Given the description of an element on the screen output the (x, y) to click on. 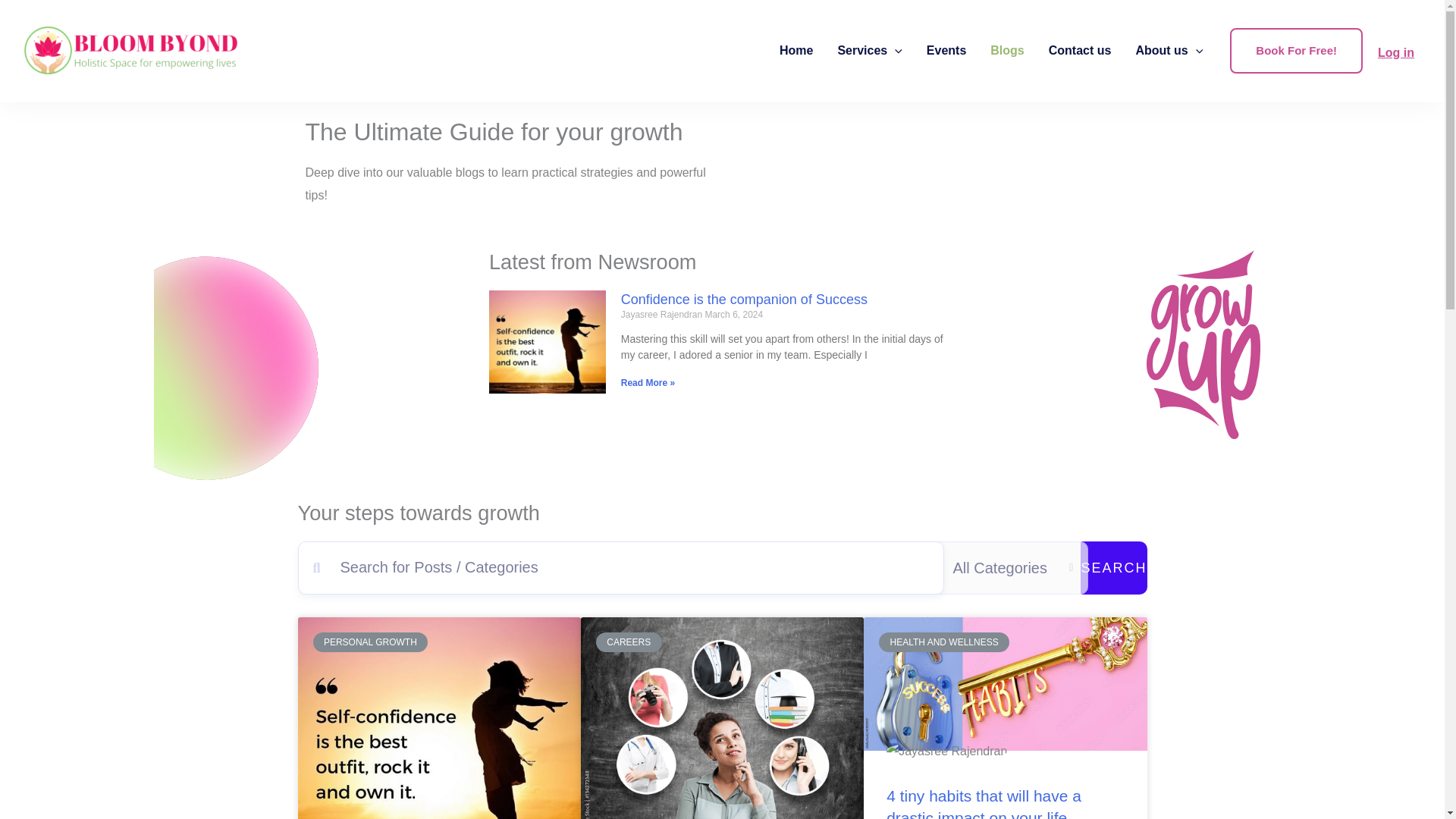
Blogs (1006, 50)
Book For Free! (1296, 50)
Home (796, 50)
Contact us (1080, 50)
Services (869, 50)
About us (1168, 50)
Events (946, 50)
Log in (1395, 51)
